Given the description of an element on the screen output the (x, y) to click on. 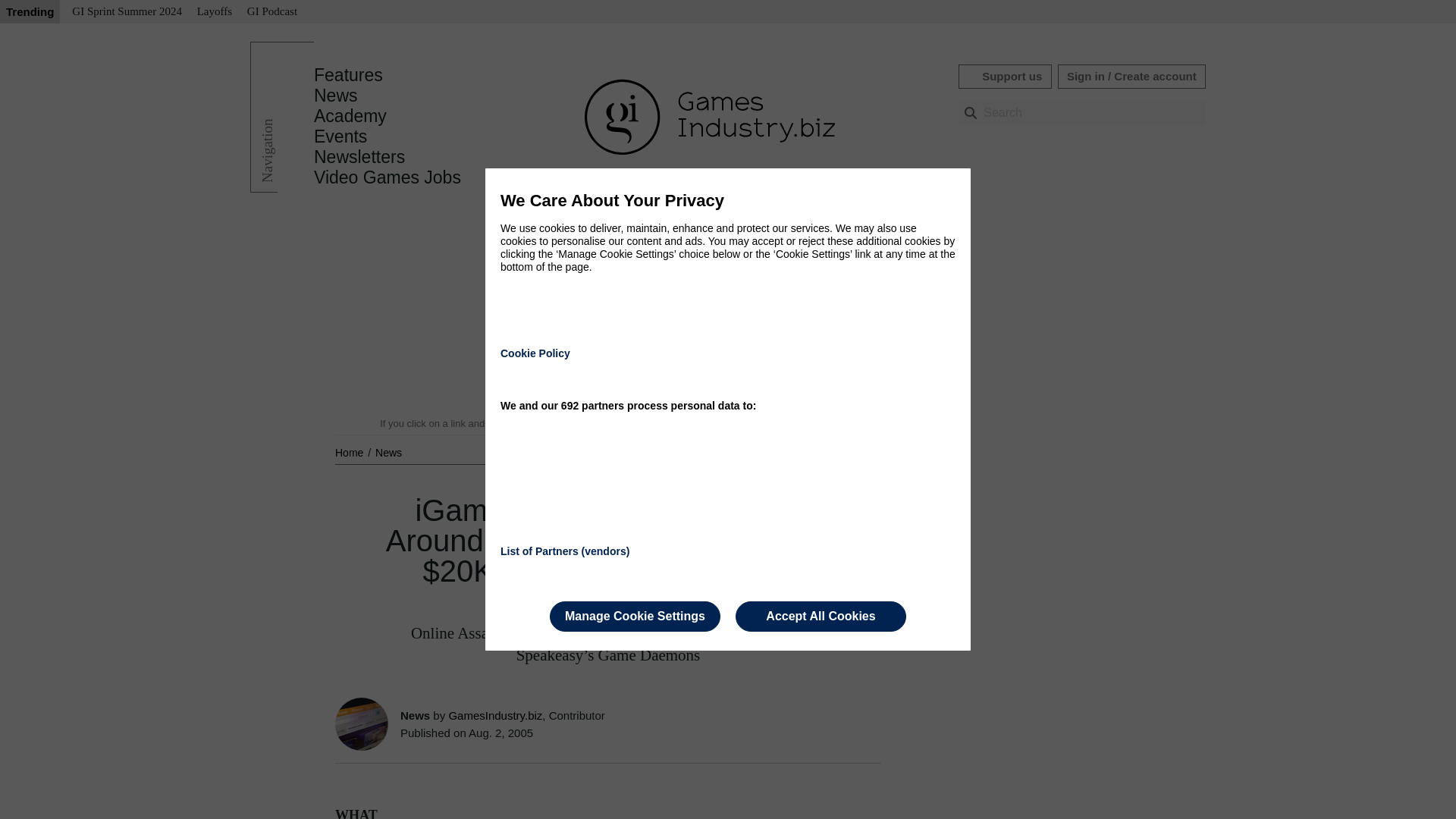
GI Podcast (271, 11)
Video Games Jobs (387, 177)
Events (340, 136)
Events (340, 136)
Home (350, 452)
Layoffs (214, 11)
Newsletters (359, 157)
Features (348, 75)
Read our editorial policy (781, 423)
GI Podcast (271, 11)
Newsletters (359, 157)
Academy (350, 116)
Home (350, 452)
GamesIndustry.biz (494, 715)
GI Sprint Summer 2024 (126, 11)
